Given the description of an element on the screen output the (x, y) to click on. 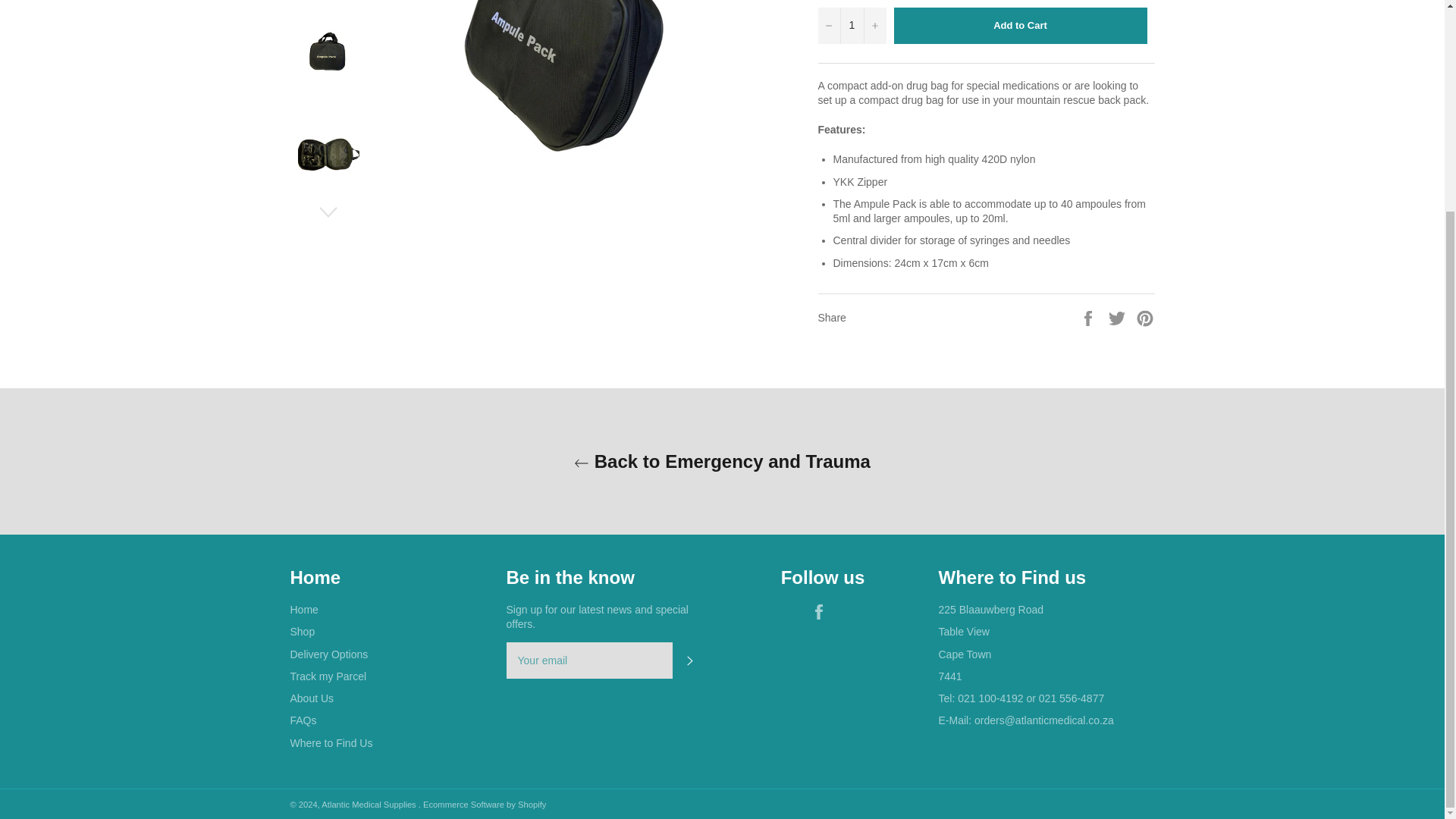
Pin on Pinterest (1144, 317)
Share on Facebook (1089, 317)
1 (850, 25)
Atlantic Medical Supplies  on Facebook (822, 611)
Tweet on Twitter (1118, 317)
